Given the description of an element on the screen output the (x, y) to click on. 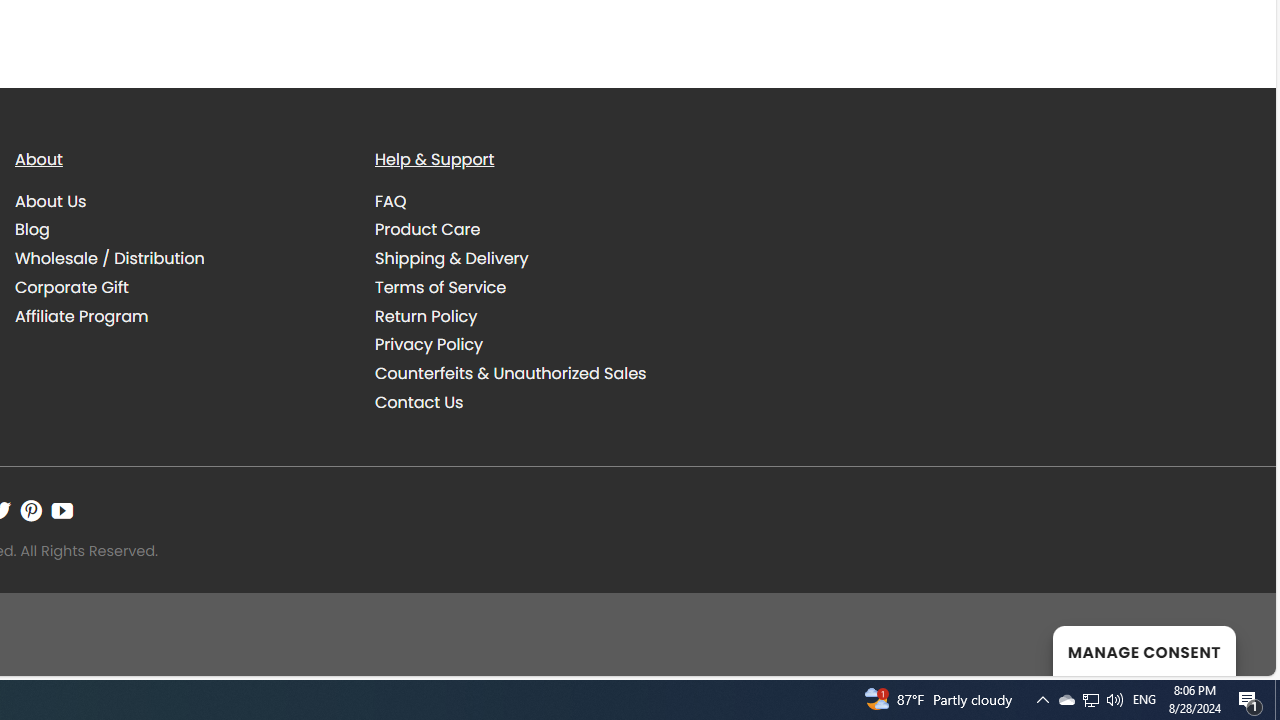
Follow on YouTube (61, 511)
Counterfeits & Unauthorized Sales (540, 373)
Privacy Policy (429, 344)
Counterfeits & Unauthorized Sales (510, 373)
Contact Us (419, 402)
Go to top (1234, 647)
Wholesale / Distribution (180, 259)
Return Policy (426, 315)
MANAGE CONSENT (1144, 650)
Product Care (540, 229)
Terms of Service (440, 286)
Shipping & Delivery (540, 259)
Blog (180, 229)
About Us (180, 201)
Wholesale / Distribution (109, 258)
